Given the description of an element on the screen output the (x, y) to click on. 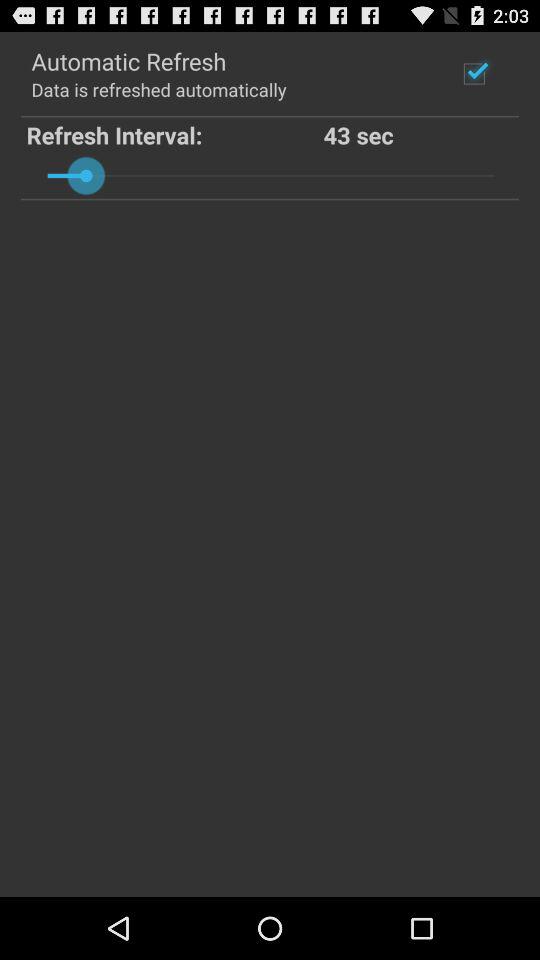
click the item above refresh interval: (158, 88)
